Given the description of an element on the screen output the (x, y) to click on. 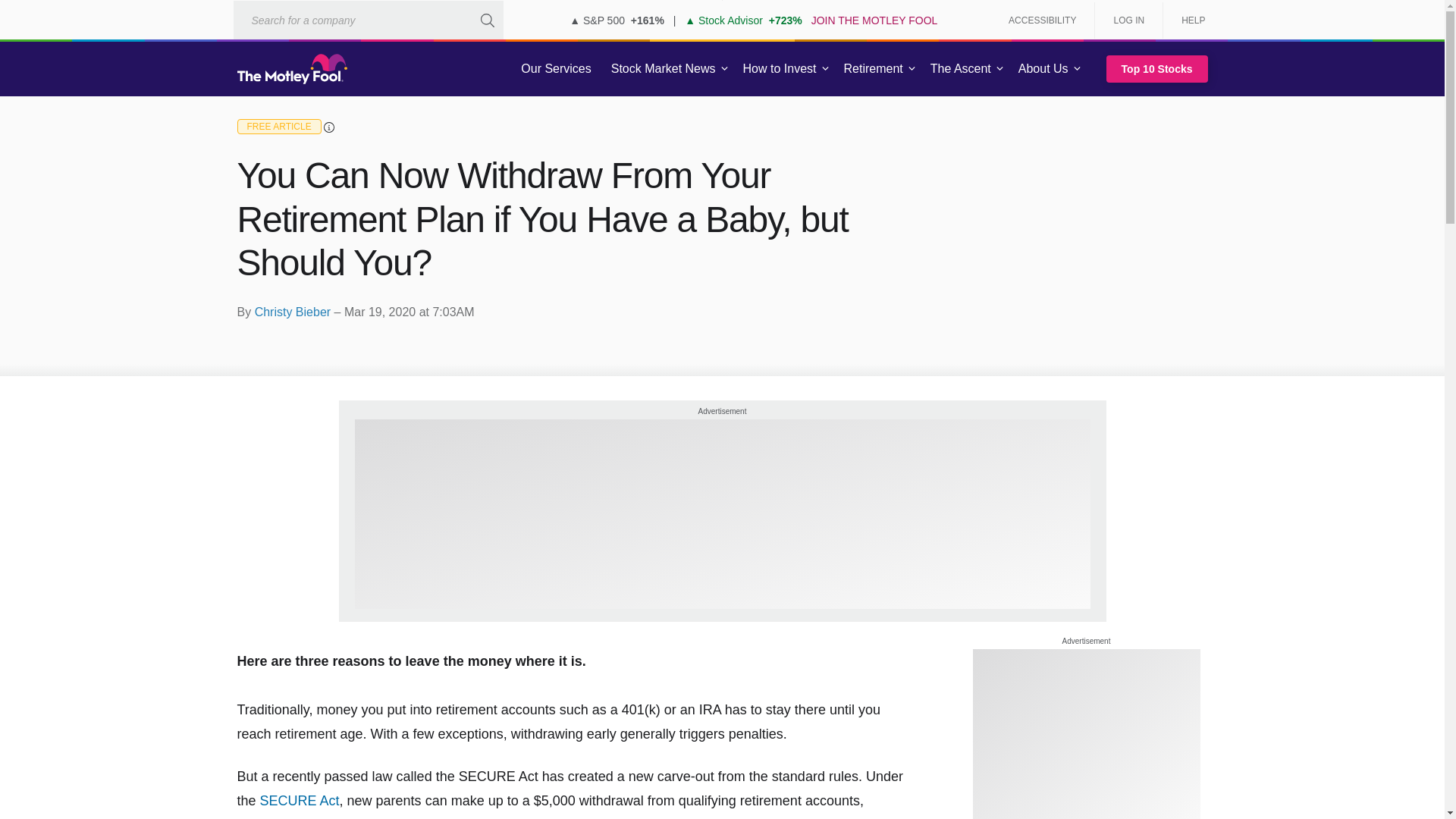
ACCESSIBILITY (1042, 19)
How to Invest (779, 68)
HELP (1187, 19)
LOG IN (1128, 19)
Our Services (555, 68)
Stock Market News (662, 68)
